Given the description of an element on the screen output the (x, y) to click on. 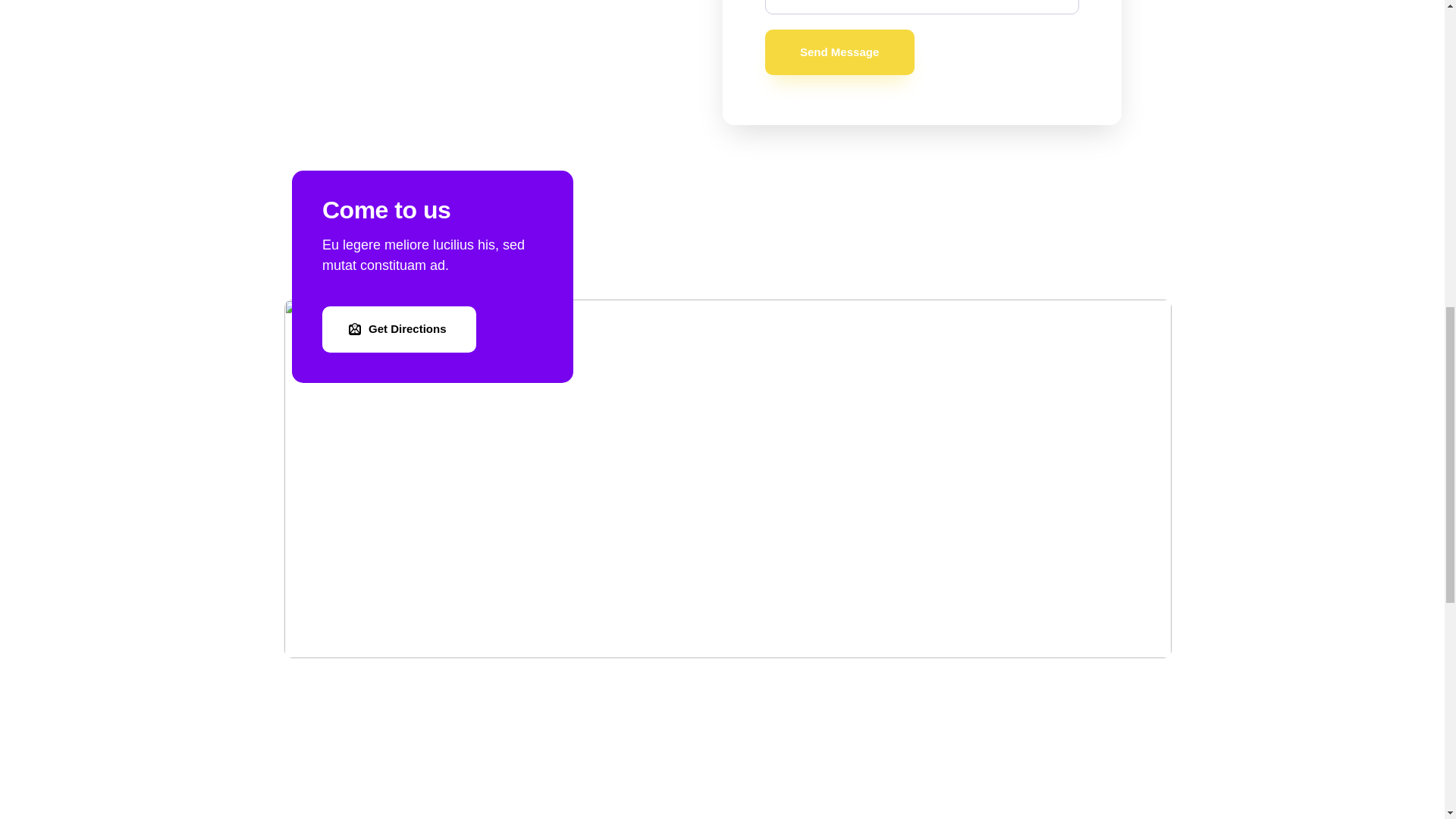
Get Directions  (398, 329)
Send Message (839, 52)
